Given the description of an element on the screen output the (x, y) to click on. 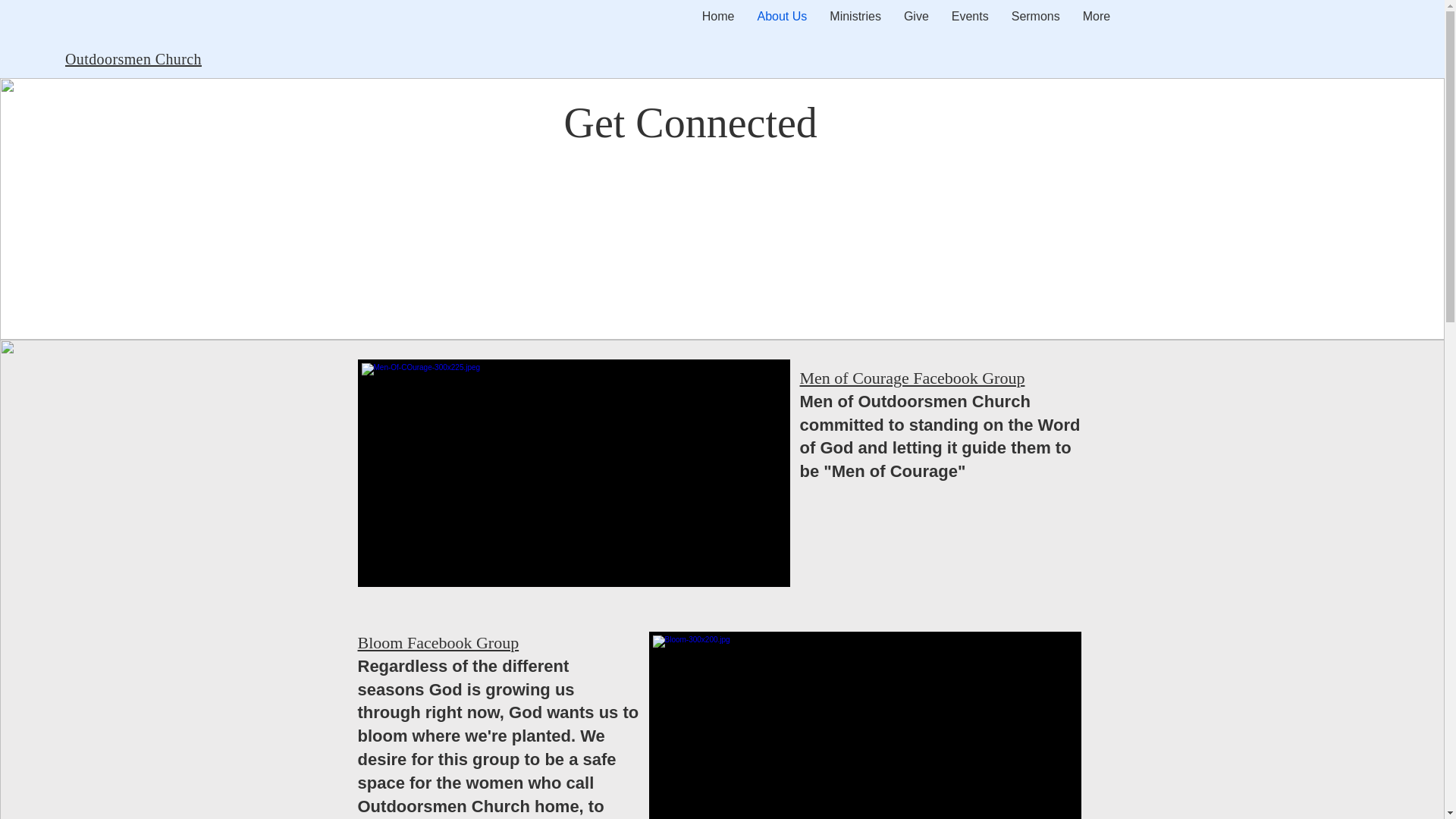
Sermons (1035, 26)
Ministries (855, 26)
Events (970, 26)
Home (717, 26)
Give (916, 26)
About Us (781, 26)
Outdoorsmen Church (133, 58)
Bloom Facebook Group (438, 642)
Men of Courage Facebook Group (912, 377)
